Given the description of an element on the screen output the (x, y) to click on. 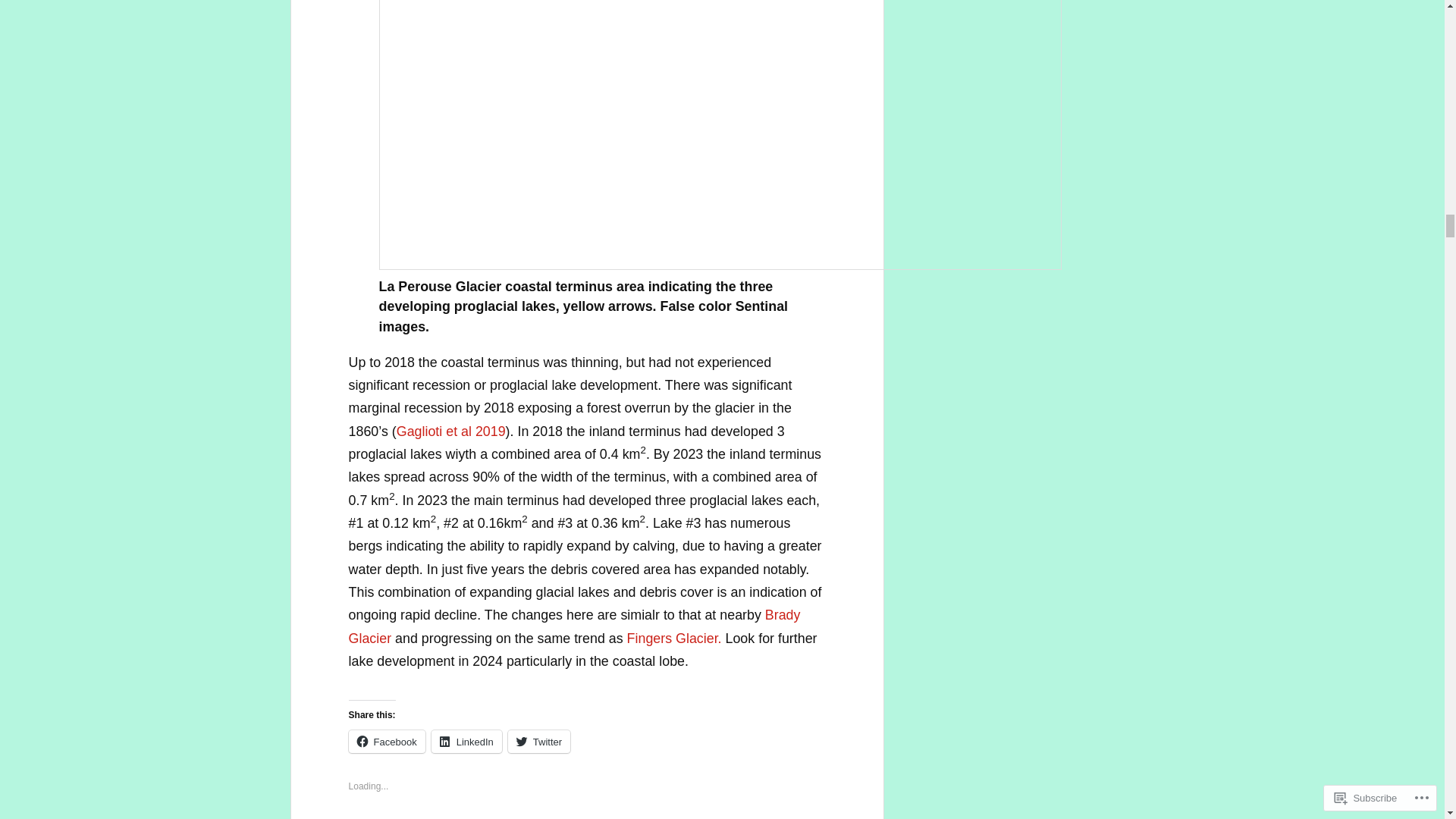
Click to share on LinkedIn (466, 741)
Click to share on Twitter (539, 741)
Click to share on Facebook (387, 741)
